Given the description of an element on the screen output the (x, y) to click on. 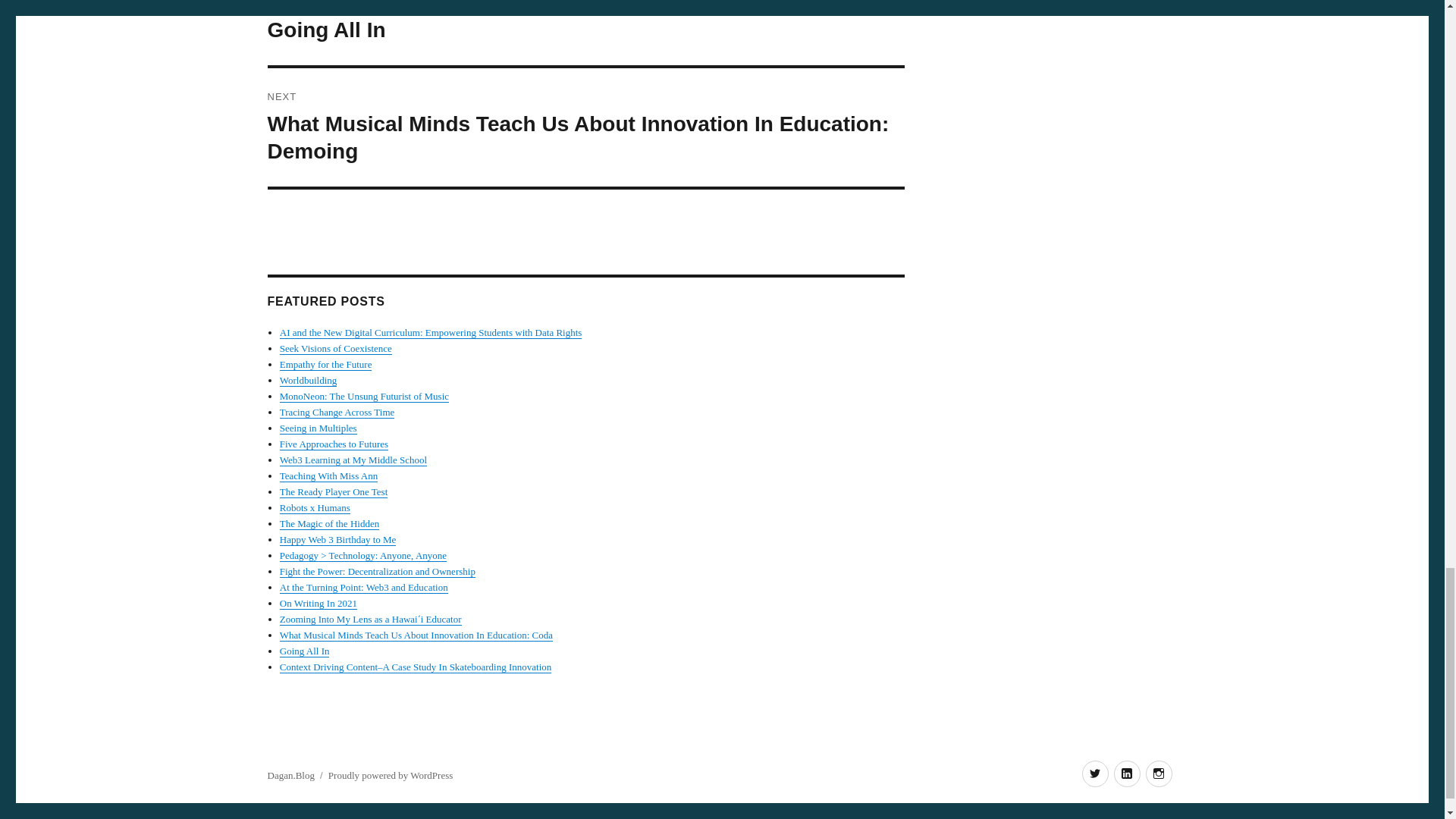
On Writing In 2021 (317, 603)
The Magic of the Hidden (328, 523)
Empathy for the Future (325, 364)
Tracing Change Across Time (336, 411)
Teaching With Miss Ann (328, 475)
Going All In (304, 650)
At the Turning Point: Web3 and Education (363, 586)
Web3 Learning at My Middle School (352, 460)
Five Approaches to Futures (333, 443)
Happy Web 3 Birthday to Me (337, 539)
MonoNeon: The Unsung Futurist of Music (363, 396)
Seek Visions of Coexistence (335, 348)
